Given the description of an element on the screen output the (x, y) to click on. 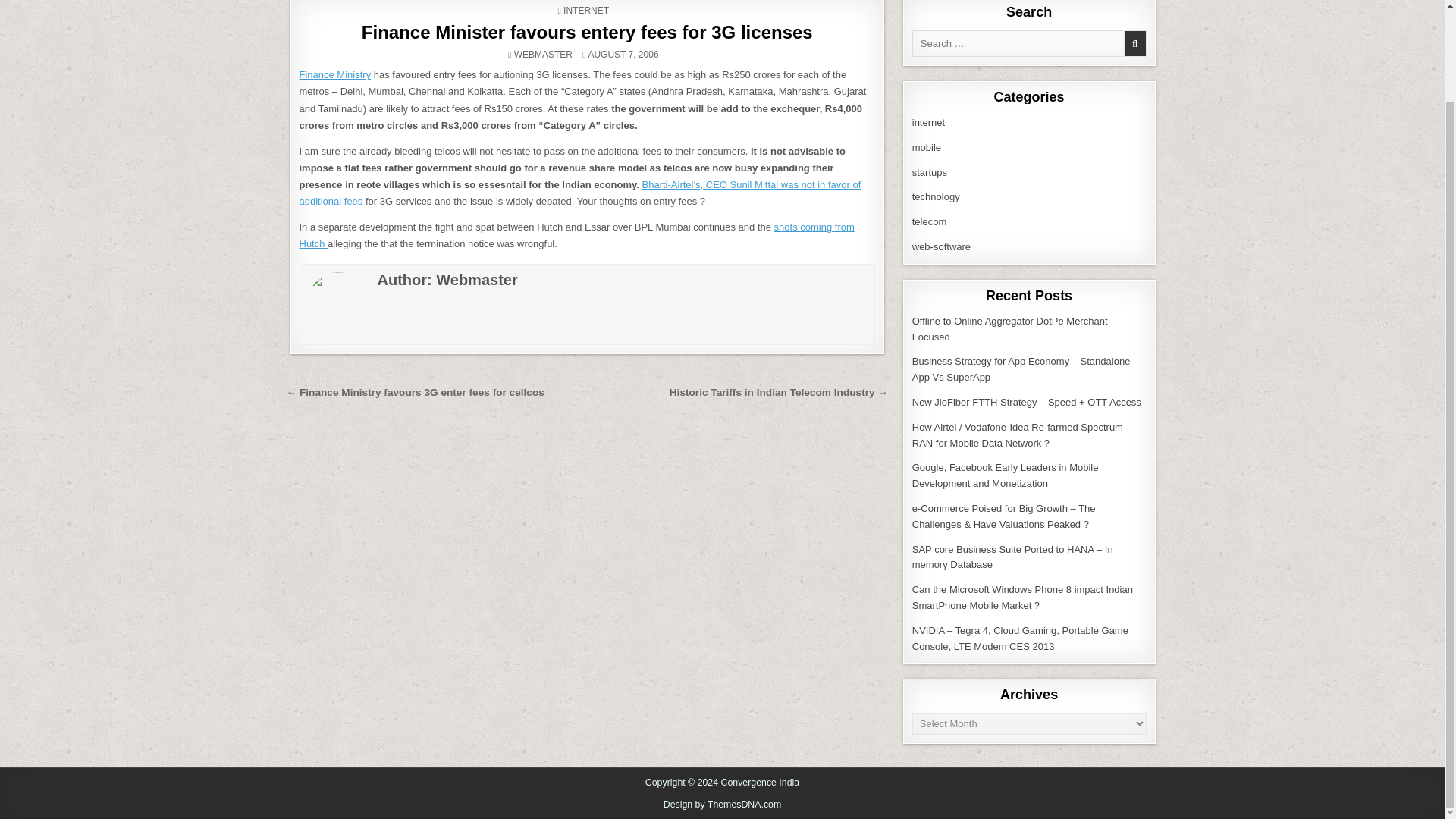
Finance Ministry (334, 74)
internet (928, 122)
mobile (926, 147)
Finance Minister favours entery fees for 3G licenses (586, 32)
shots coming from Hutch (575, 235)
technology (935, 196)
WEBMASTER (542, 53)
Offline to Online Aggregator DotPe Merchant Focused (1010, 329)
Research and Analysis on the Indian Internet and Broadband  (928, 122)
telecom (929, 221)
web-software (941, 246)
startups (929, 172)
